Given the description of an element on the screen output the (x, y) to click on. 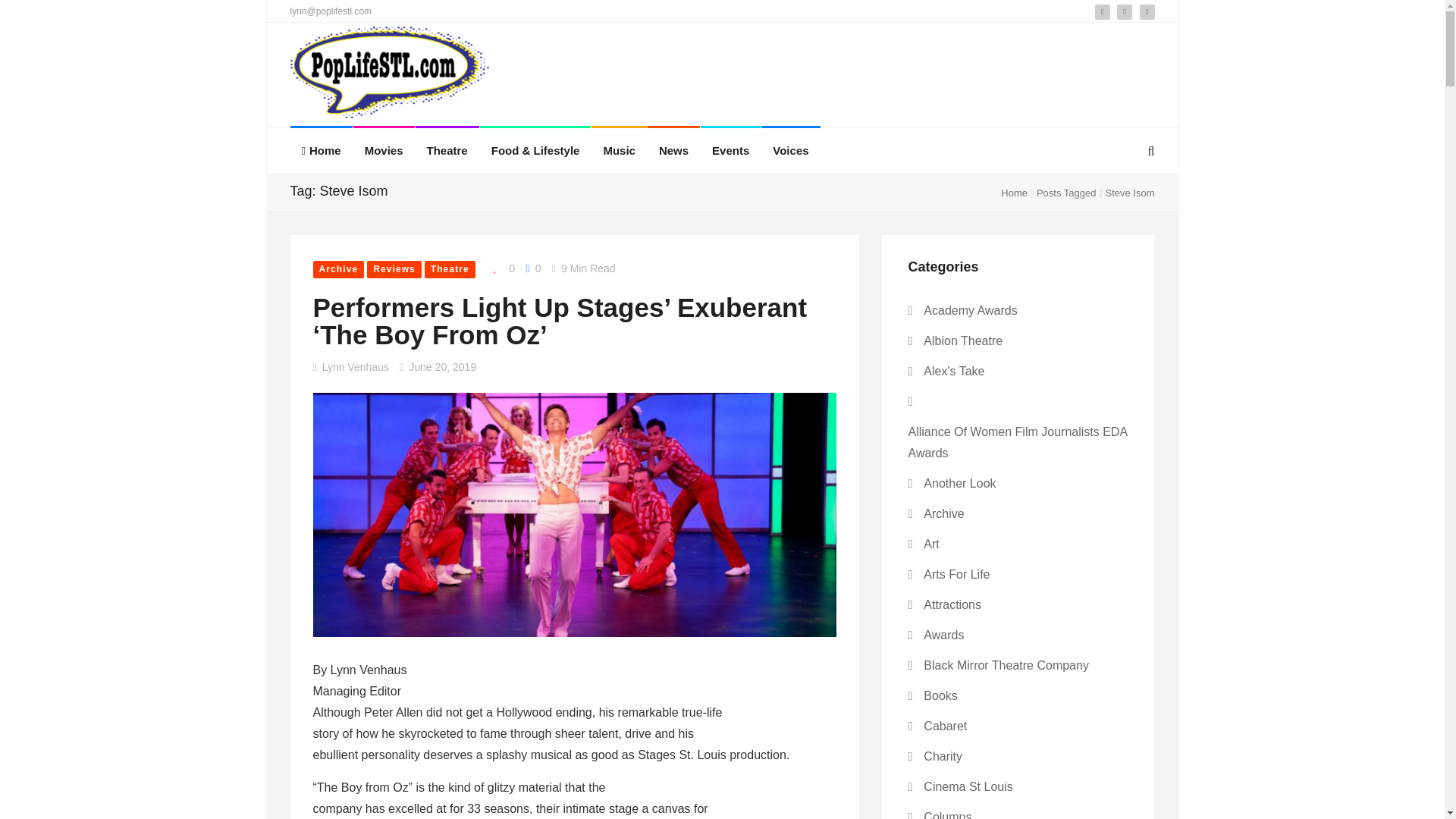
0 (532, 268)
Theatre (446, 150)
Reviews (394, 269)
Home (1014, 193)
Like this (500, 268)
Theatre (450, 269)
0 (500, 268)
Lynn Venhaus (354, 367)
Pop Life STL (389, 75)
June 20, 2019 (442, 367)
Archive (338, 269)
Theatre (446, 150)
